Given the description of an element on the screen output the (x, y) to click on. 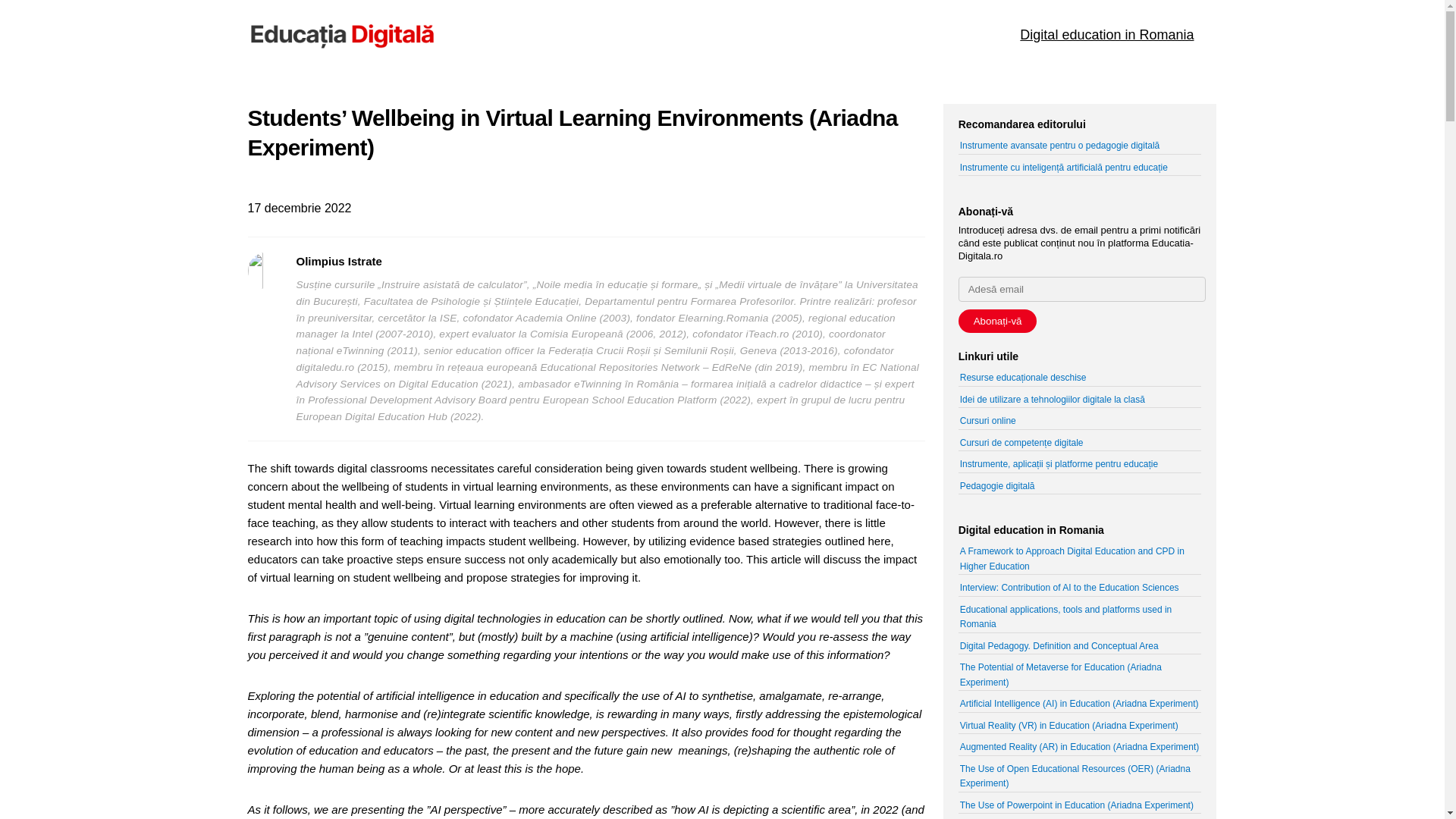
Digital Pedagogy. Definition and Conceptual Area (1058, 645)
Digital education in Romania (1106, 34)
Interview: Contribution of AI to the Education Sciences (1069, 587)
Cursuri online (987, 420)
